Given the description of an element on the screen output the (x, y) to click on. 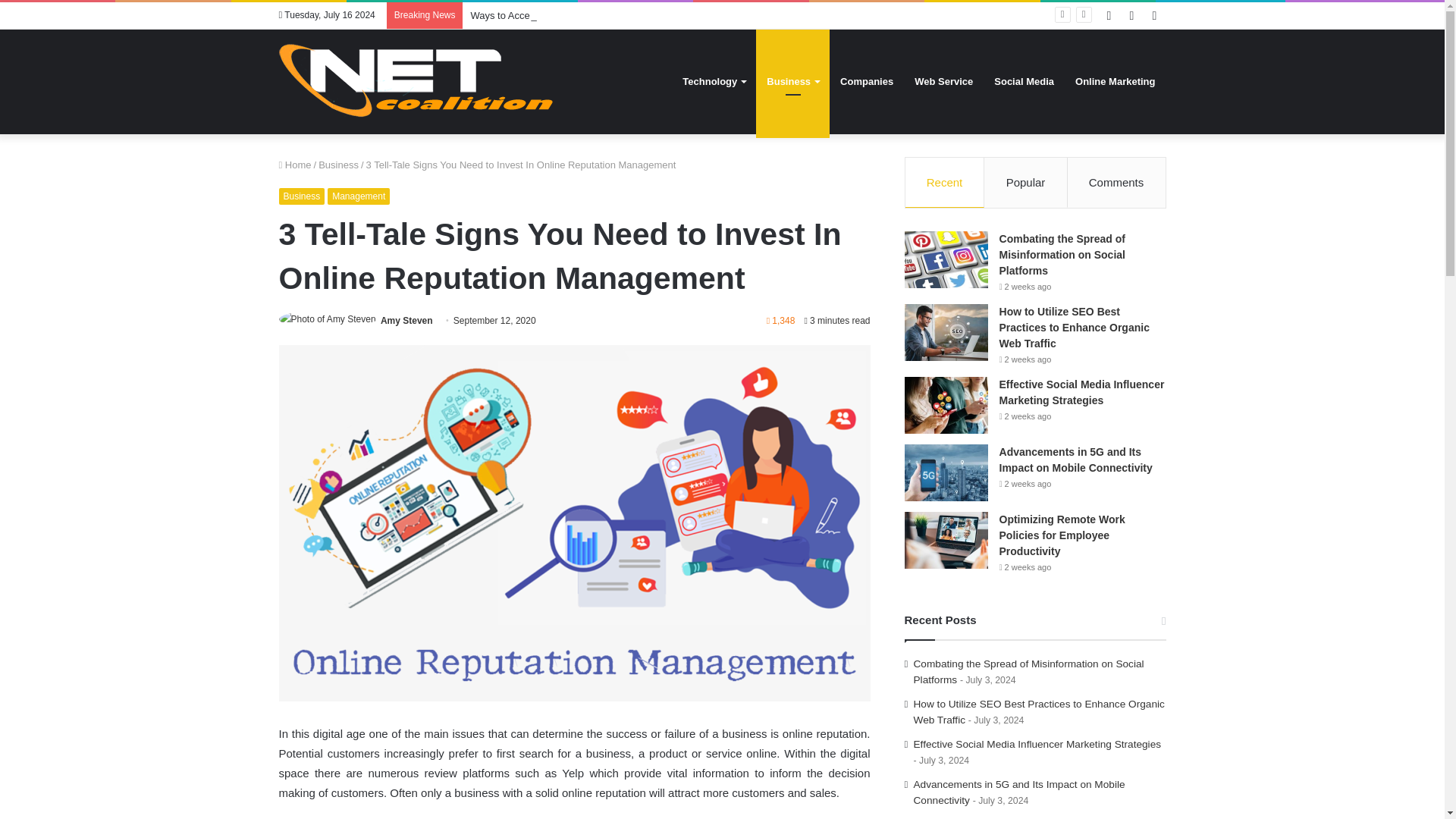
Amy Steven (406, 320)
Business (301, 196)
Home (295, 164)
Ways to Accelerate E-commerce Deliveries (564, 15)
Amy Steven (406, 320)
Online Marketing (1115, 81)
Management (358, 196)
Business (338, 164)
Net Coalition - The Tech Blog for Your Business - Read Now! (422, 81)
